Given the description of an element on the screen output the (x, y) to click on. 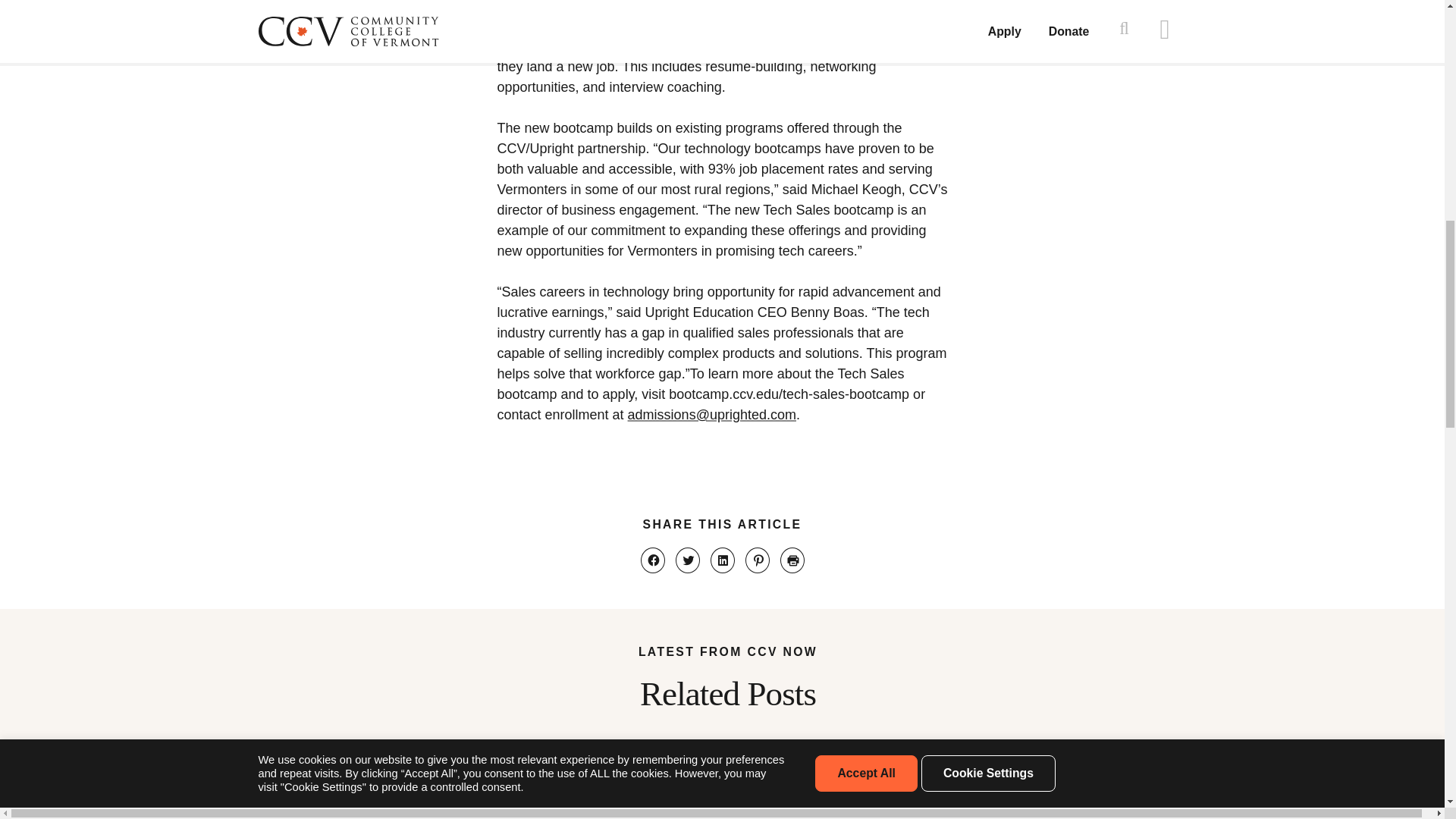
Click to share on Pinterest (756, 560)
Click to print (790, 560)
Click to share on Facebook (651, 560)
Click to share on LinkedIn (721, 560)
Click to share on Twitter (686, 560)
